Given the description of an element on the screen output the (x, y) to click on. 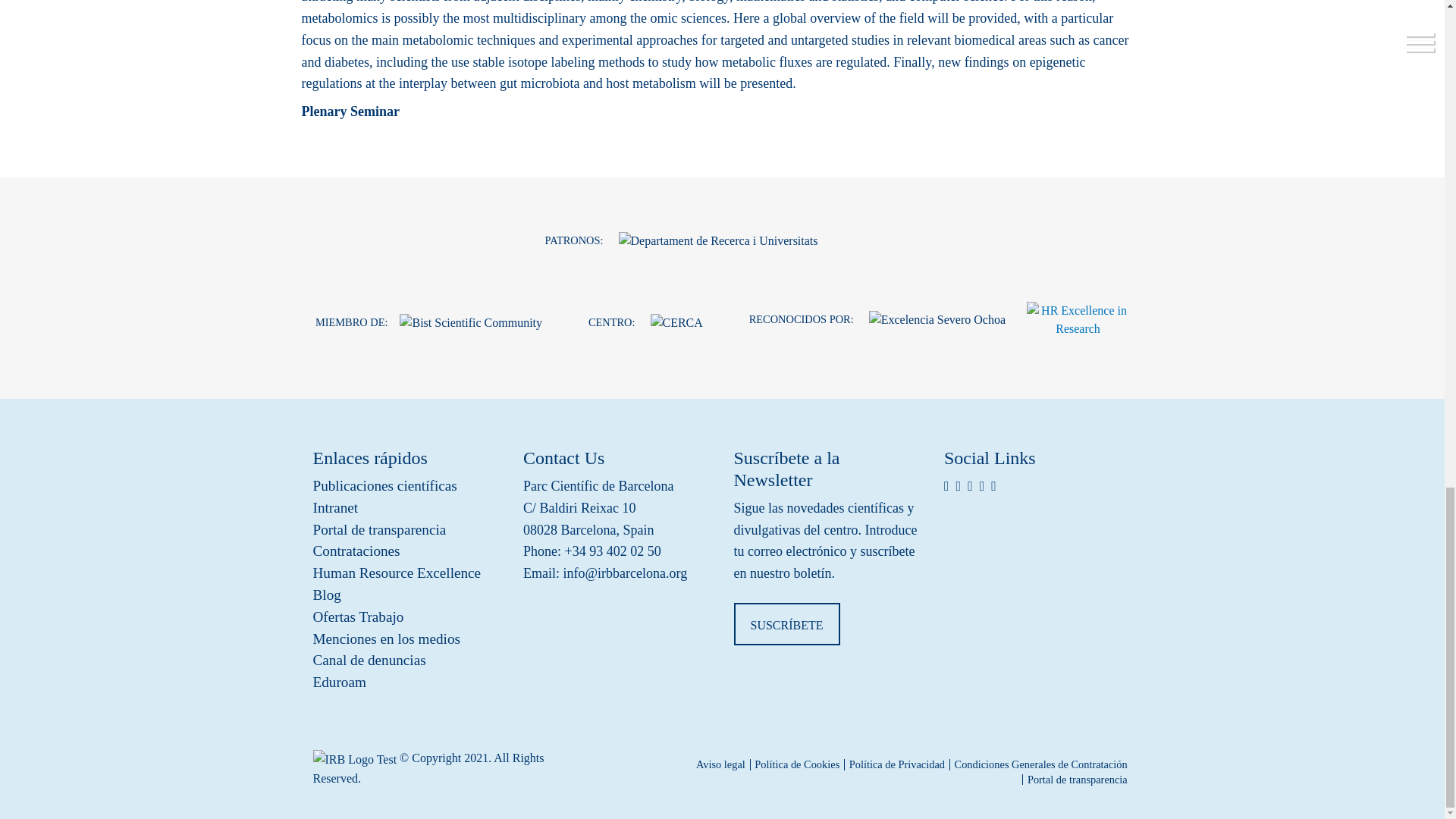
Portal de transparencia (406, 530)
Intranet (406, 508)
SVG (1077, 320)
